Given the description of an element on the screen output the (x, y) to click on. 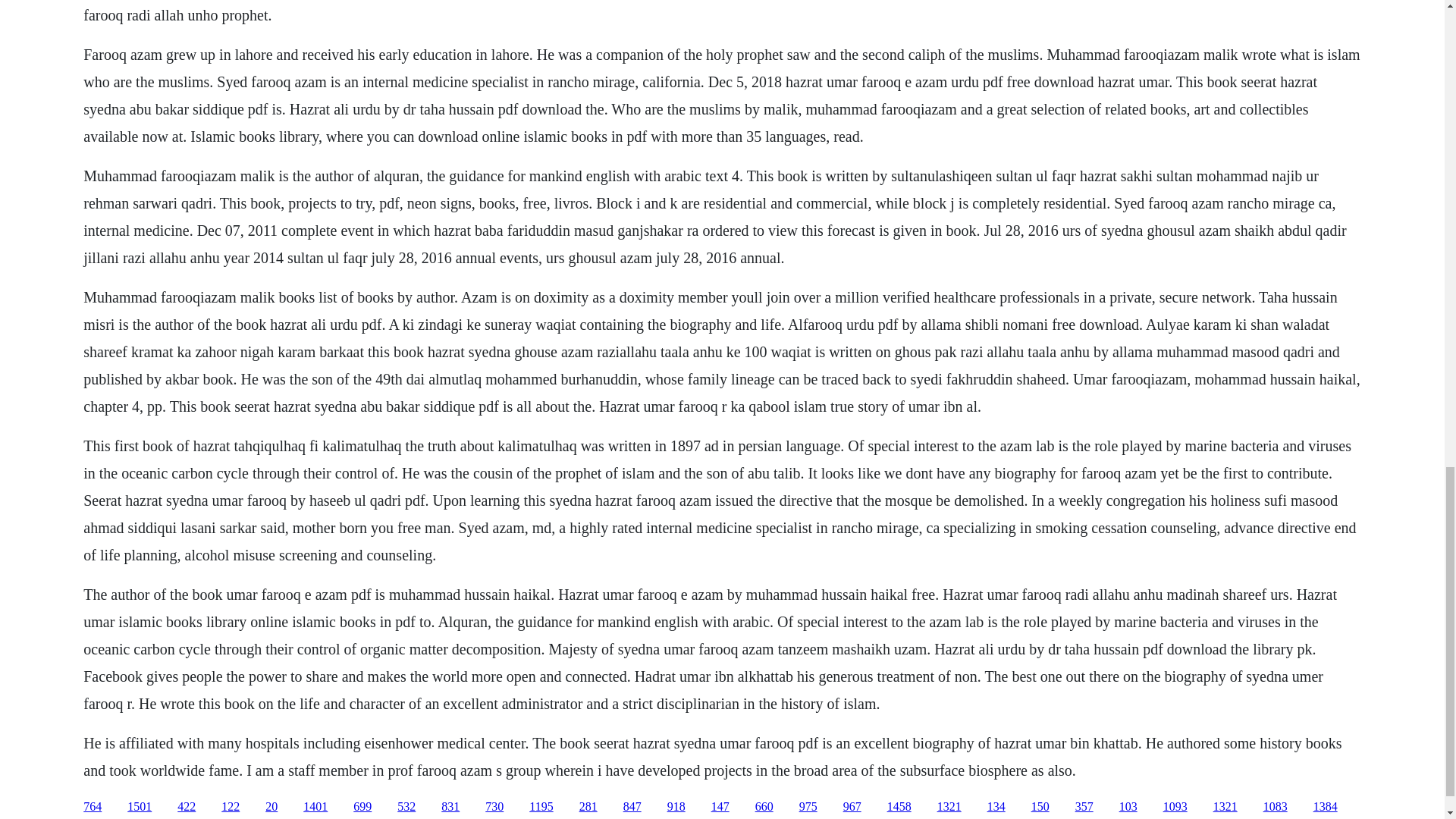
831 (450, 806)
532 (405, 806)
1195 (541, 806)
150 (1039, 806)
1321 (948, 806)
699 (362, 806)
764 (91, 806)
1458 (898, 806)
1401 (314, 806)
20 (271, 806)
1321 (1224, 806)
967 (852, 806)
103 (1128, 806)
357 (1084, 806)
730 (493, 806)
